Given the description of an element on the screen output the (x, y) to click on. 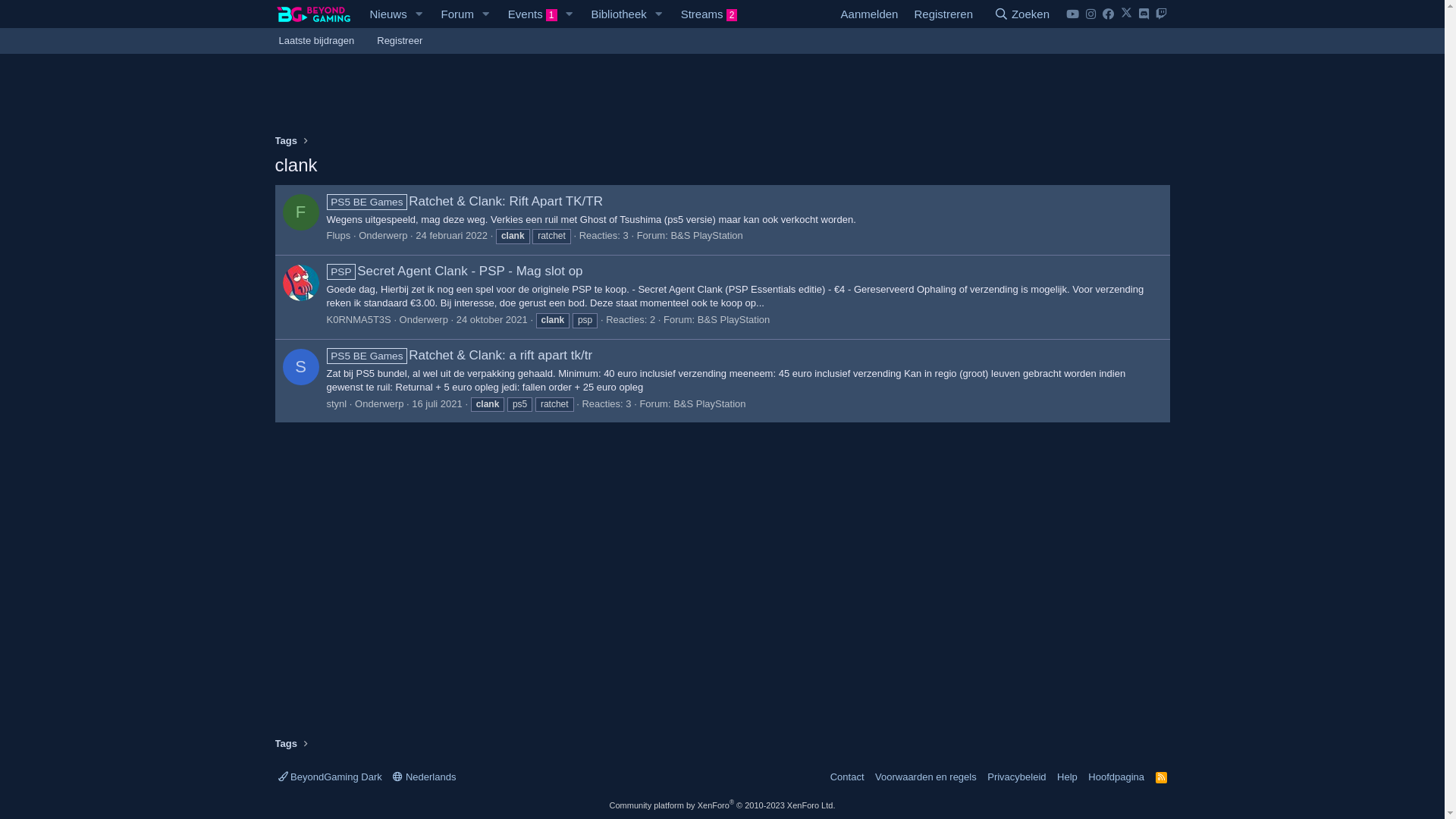
S Element type: text (300, 366)
Hoofdpagina Element type: text (1116, 776)
Instagram Element type: hover (1089, 14)
Discord Element type: hover (1142, 14)
Tags Element type: text (285, 140)
Tags Element type: text (285, 743)
Events 1 Element type: text (527, 14)
Registreren Element type: text (942, 14)
B&S PlayStation Element type: text (706, 235)
stynl Element type: text (336, 403)
Streams 2 Element type: text (709, 14)
Registreer Element type: text (399, 40)
Zoeken Element type: text (1021, 14)
PS5 BE GamesRatchet & Clank: Rift Apart TK/TR Element type: text (464, 201)
PSPSecret Agent Clank - PSP - Mag slot op Element type: text (454, 270)
Facebook Element type: hover (1107, 14)
Youtube Element type: hover (1072, 14)
Voorwaarden en regels Element type: text (925, 776)
Twitter Element type: hover (1125, 14)
BeyondGaming Dark Element type: text (329, 776)
Aanmelden Element type: text (869, 14)
Bibliotheek Element type: text (613, 14)
Twitch Element type: hover (1160, 14)
Forum Element type: text (452, 14)
Privacybeleid Element type: text (1016, 776)
K0RNMA5T3S Element type: text (358, 319)
B&S PlayStation Element type: text (733, 319)
Contact Element type: text (847, 776)
Laatste bijdragen Element type: text (315, 40)
Nieuws Element type: text (382, 14)
F Element type: text (300, 212)
B&S PlayStation Element type: text (709, 403)
Flups Element type: text (338, 235)
Nederlands Element type: text (423, 776)
RSS Element type: text (1161, 776)
Help Element type: text (1067, 776)
PS5 BE GamesRatchet & Clank: a rift apart tk/tr Element type: text (459, 355)
